Given the description of an element on the screen output the (x, y) to click on. 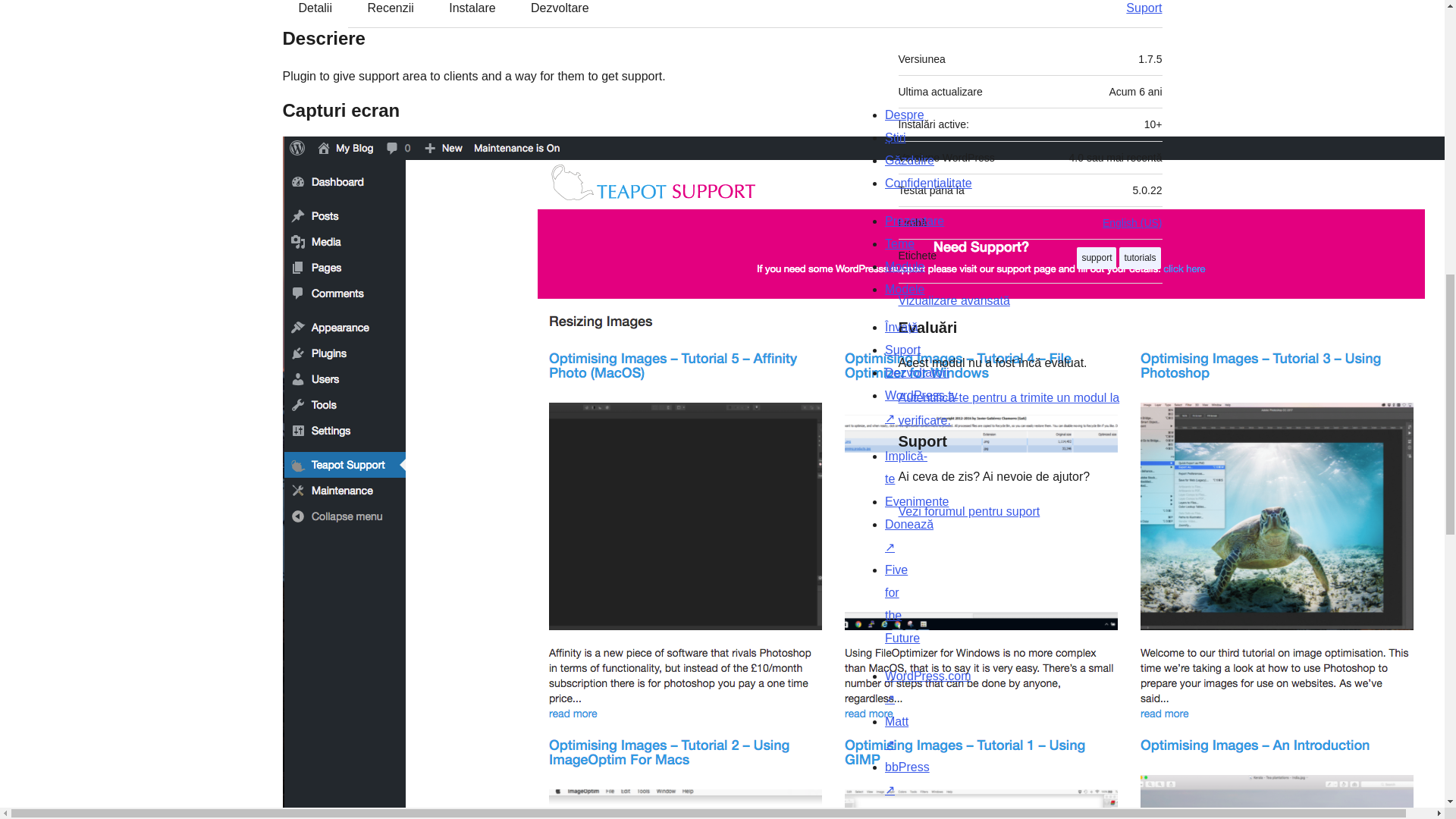
Recenzii (390, 13)
Detalii (315, 13)
Dezvoltare (559, 13)
Suport (1135, 13)
Instalare (472, 13)
